Given the description of an element on the screen output the (x, y) to click on. 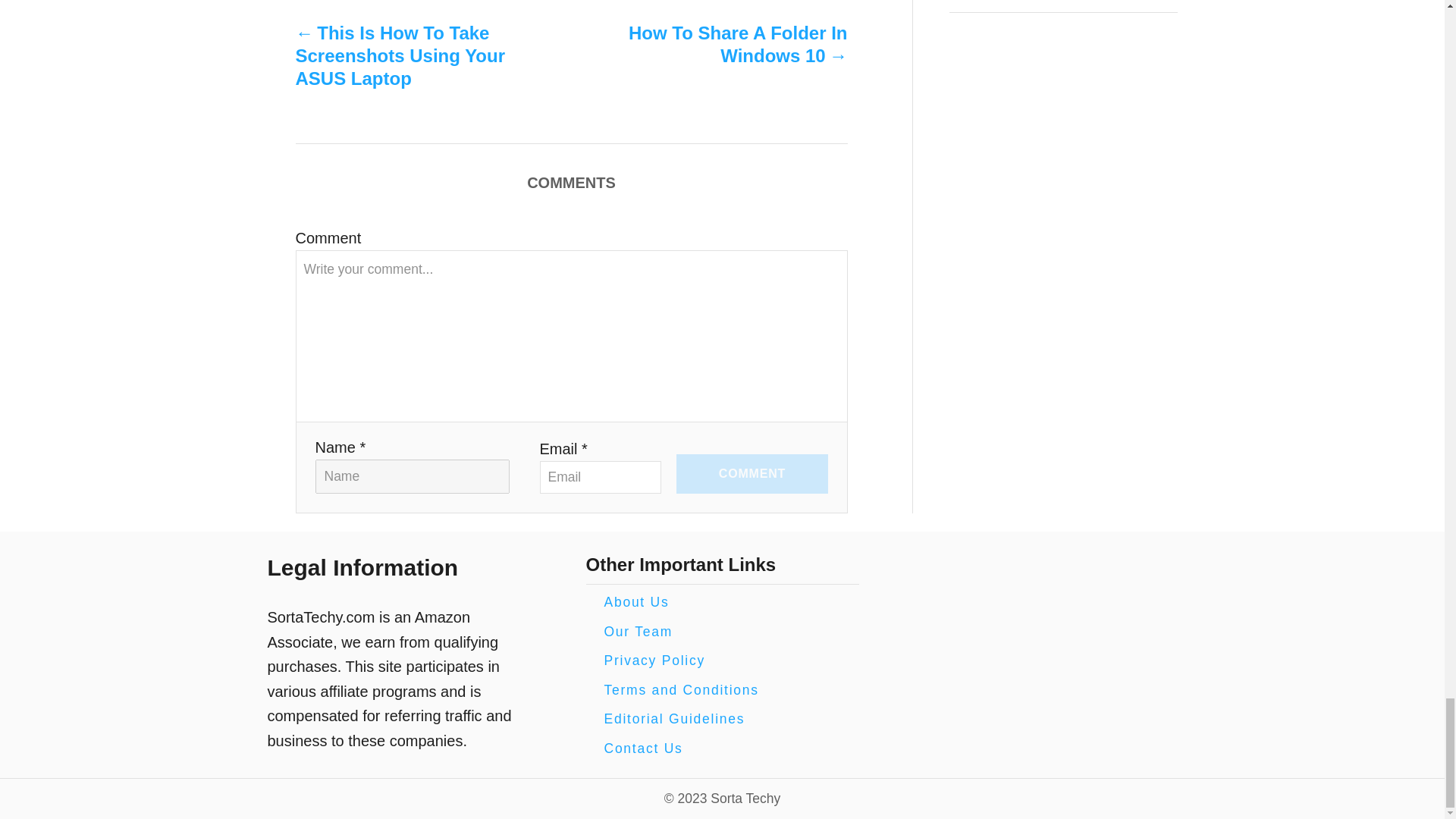
COMMENT (752, 473)
This Is How To Take Screenshots Using Your ASUS Laptop (405, 56)
How To Share A Folder In Windows 10 (736, 44)
